Given the description of an element on the screen output the (x, y) to click on. 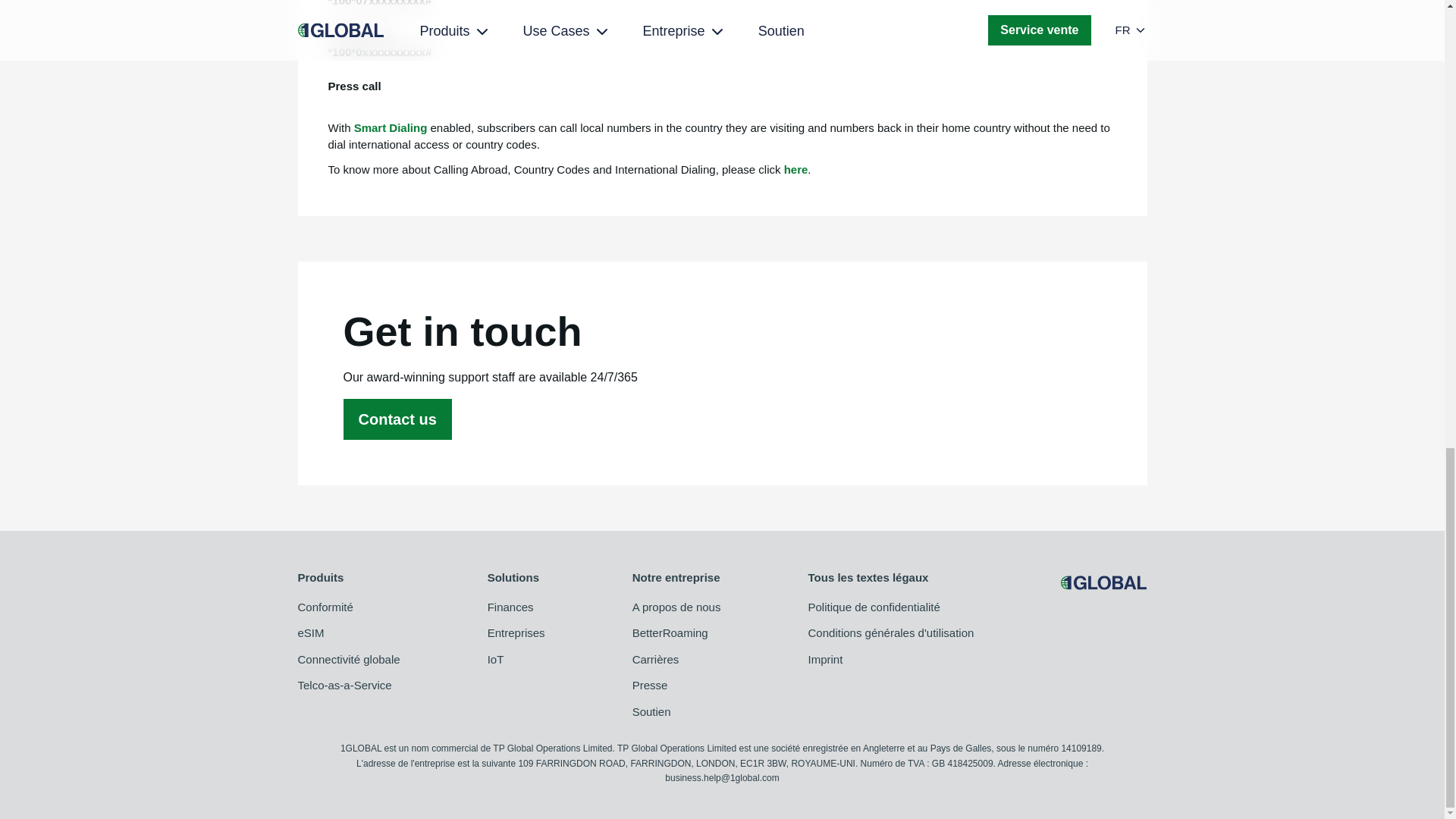
Produits (347, 577)
Entreprises (515, 633)
Soutien (675, 712)
Contact us (396, 418)
IoT (515, 660)
Smart Dialing (390, 127)
Contact us (396, 420)
Imprint (891, 660)
A propos de nous (675, 607)
Finances (515, 607)
Solutions (515, 577)
here (796, 169)
Presse (675, 685)
BetterRoaming (675, 633)
eSIM (347, 633)
